Given the description of an element on the screen output the (x, y) to click on. 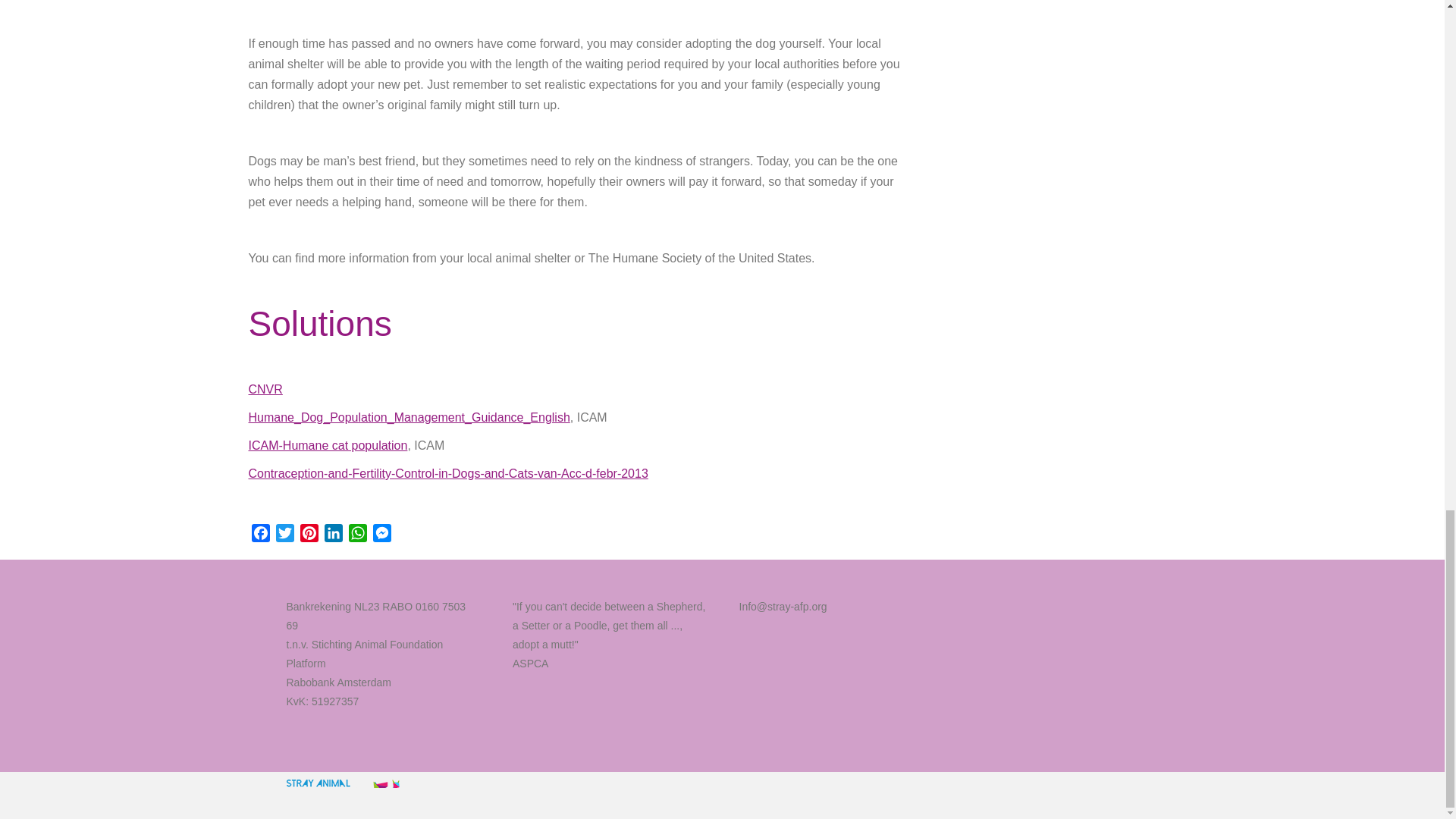
Twitter (285, 535)
LinkedIn (333, 535)
Messenger (381, 535)
Pinterest (309, 535)
Messenger (381, 535)
LinkedIn (333, 535)
CNV (265, 389)
CNVR (265, 389)
Twitter (285, 535)
WhatsApp (357, 535)
Facebook (260, 535)
Facebook (260, 535)
WhatsApp (357, 535)
ICAM-Humane cat population (327, 445)
